Given the description of an element on the screen output the (x, y) to click on. 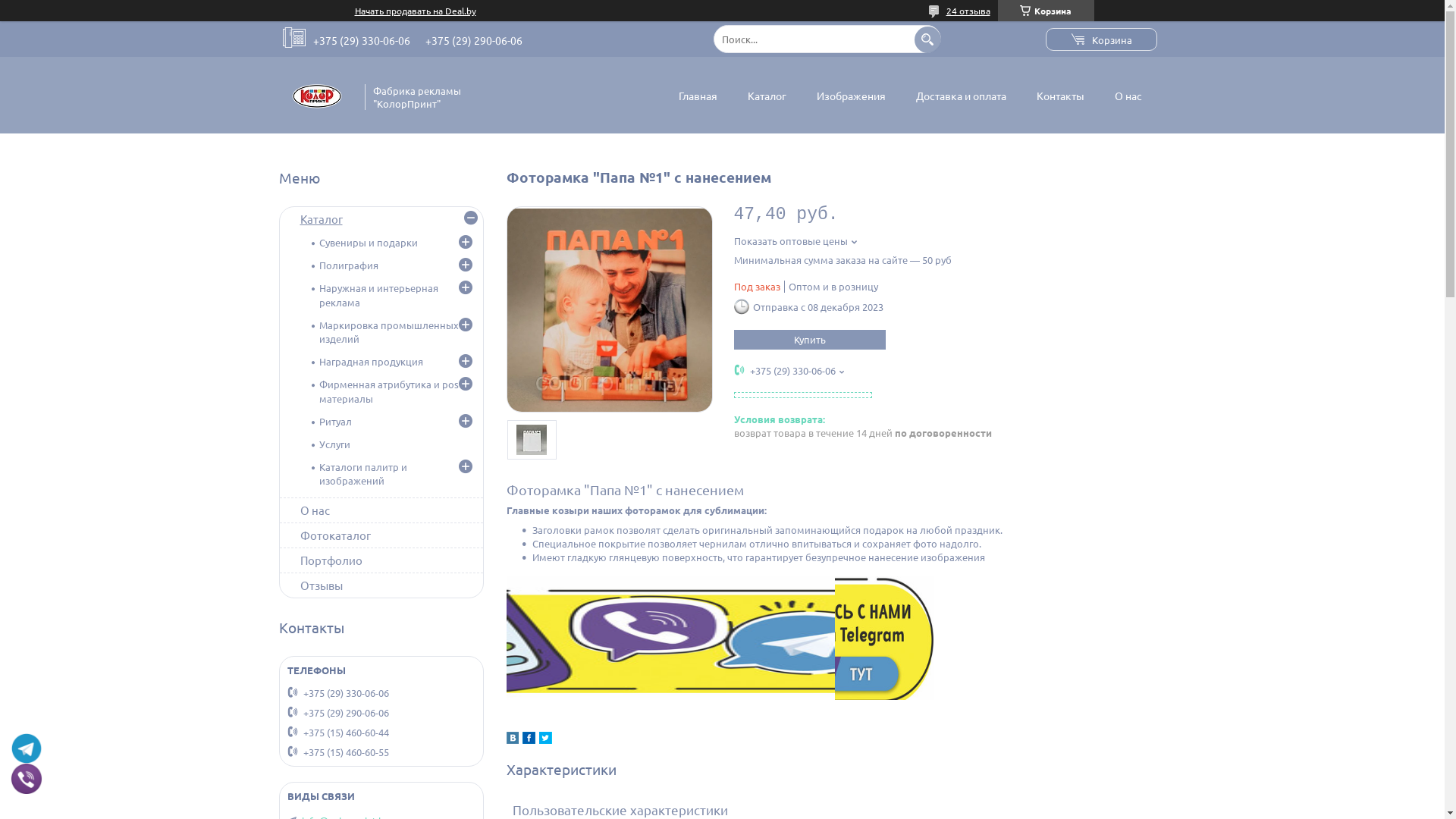
twitter Element type: hover (544, 739)
facebook Element type: hover (527, 739)
